Given the description of an element on the screen output the (x, y) to click on. 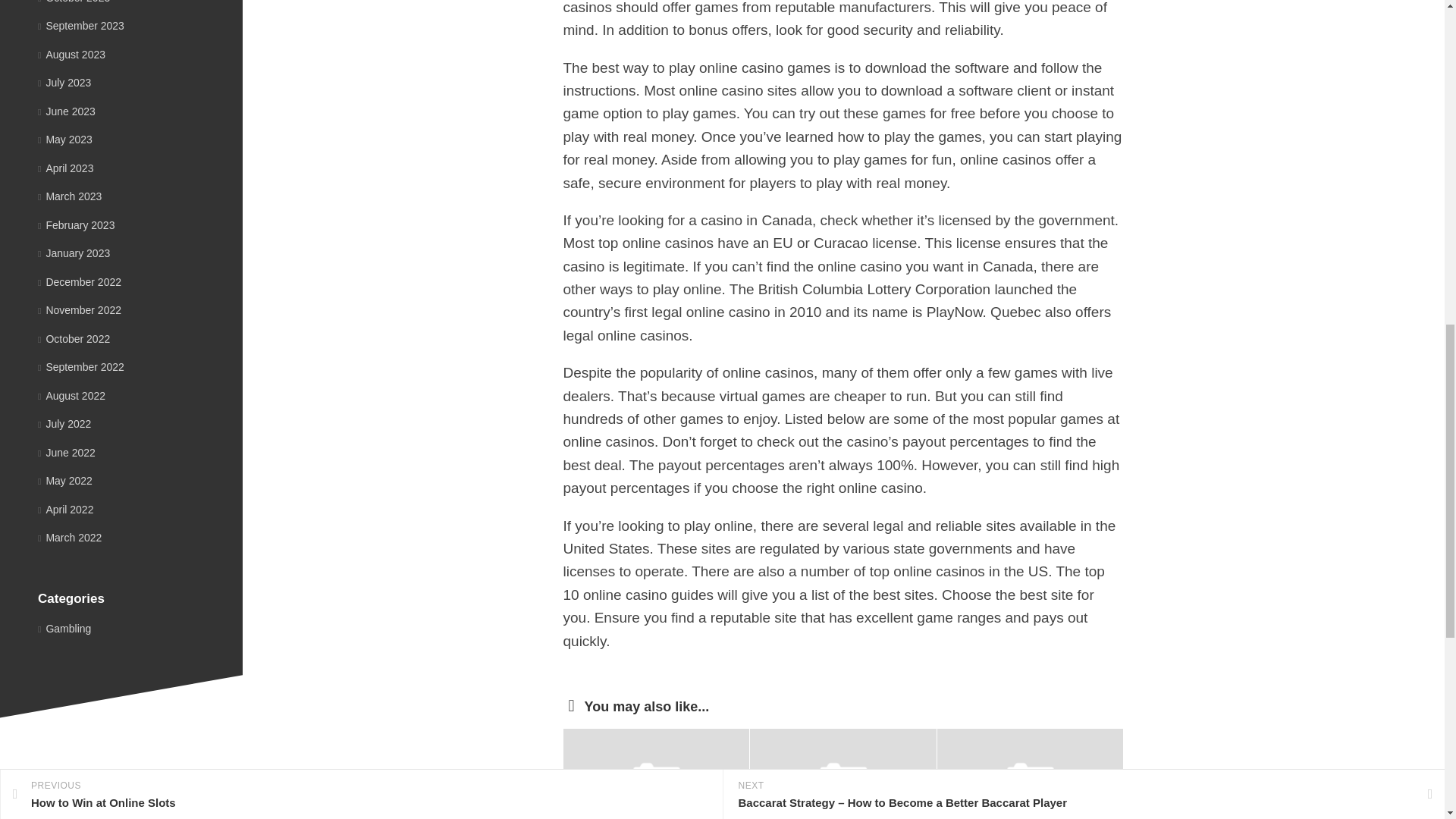
May 2023 (65, 139)
February 2023 (76, 224)
June 2023 (66, 110)
July 2023 (63, 82)
September 2023 (80, 25)
March 2023 (69, 196)
January 2023 (73, 253)
October 2023 (73, 1)
April 2023 (65, 168)
August 2023 (70, 54)
